Given the description of an element on the screen output the (x, y) to click on. 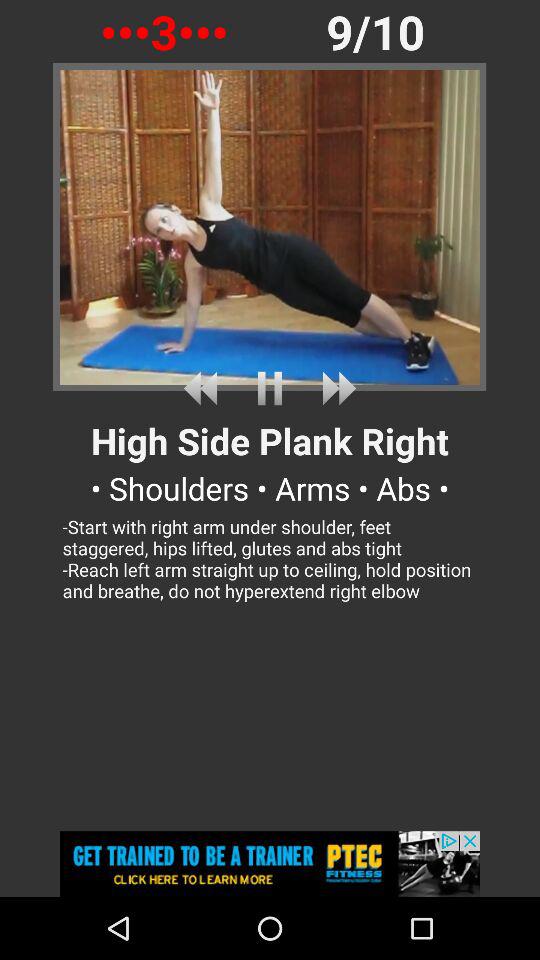
previous exercise (204, 388)
